Given the description of an element on the screen output the (x, y) to click on. 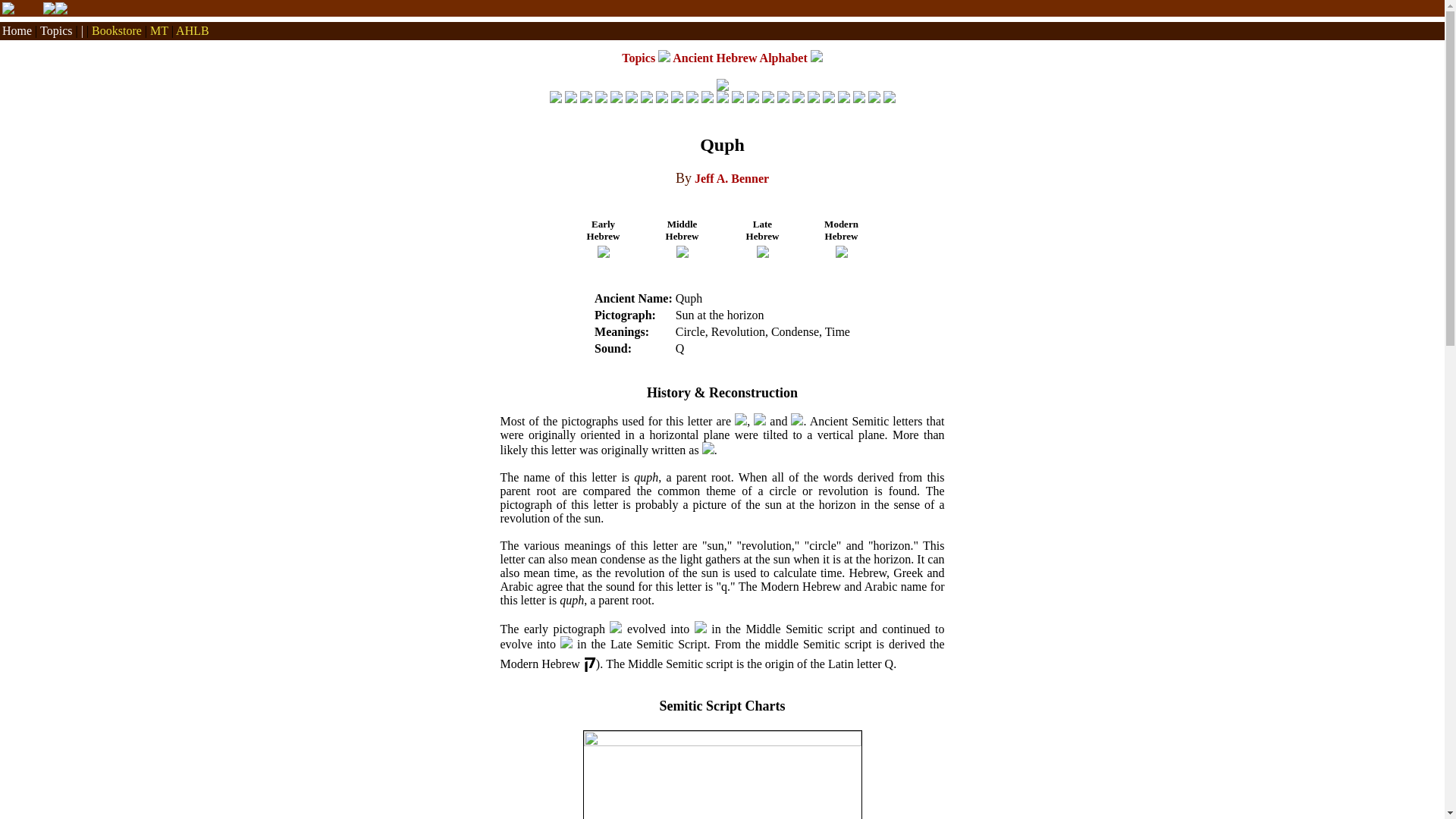
Home (17, 30)
Ancient Hebrew Alphabet (739, 57)
Bookstore (116, 30)
Topics (55, 30)
Topics (638, 57)
AHLB (192, 30)
Jeff A. Benner (731, 178)
MT (158, 30)
